Given the description of an element on the screen output the (x, y) to click on. 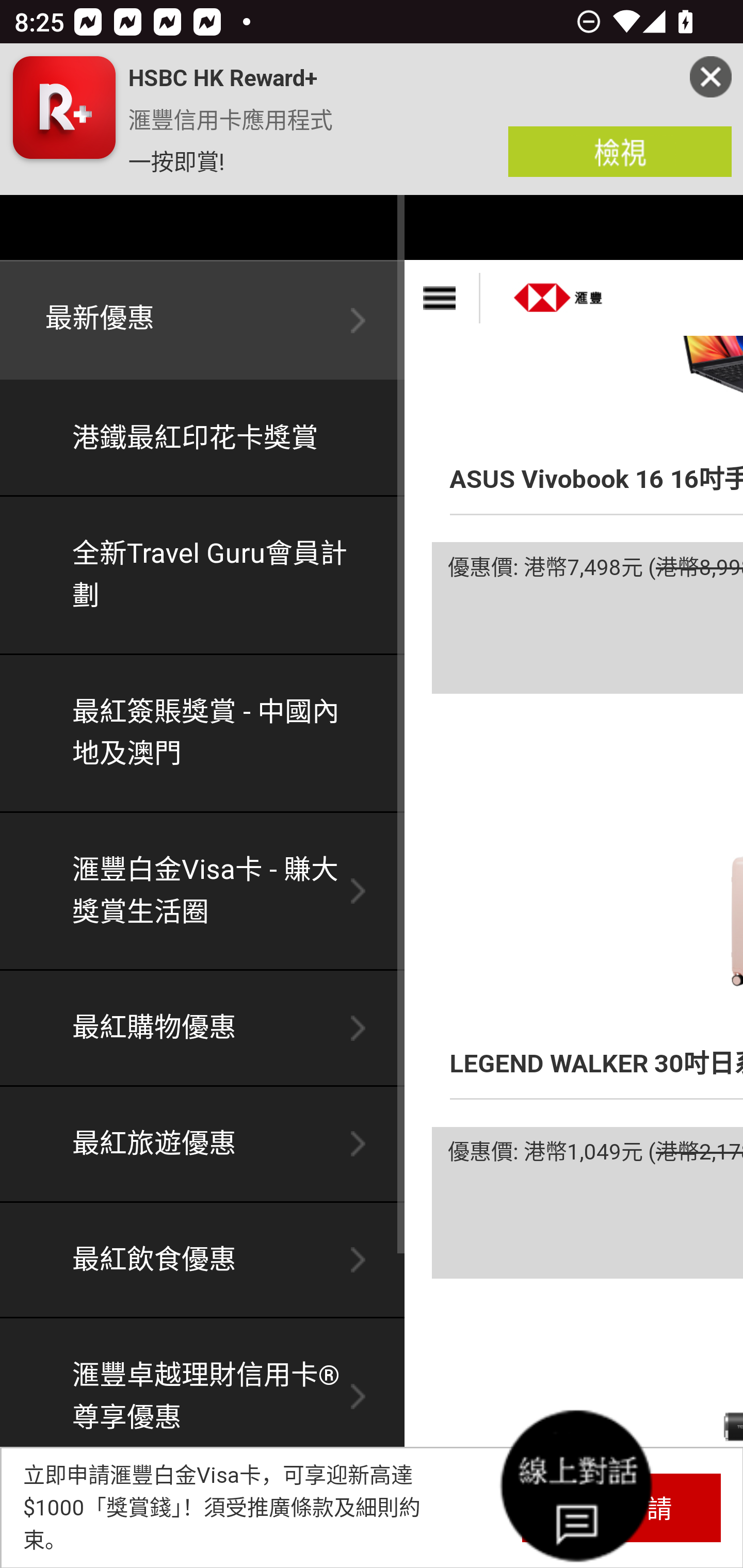
最新優惠 (203, 321)
HSBC (558, 291)
目錄 (442, 298)
港鐵最紅印花卡獎賞 港鐵最紅印花卡獎賞 港鐵最紅印花卡獎賞 (203, 439)
最紅簽賬獎賞 - 中國內地及澳門 最紅簽賬獎賞 - 中國內地及澳門 最紅簽賬獎賞 - 中國內地及澳門 (203, 733)
最紅購物優惠 最紅購物優惠 最紅購物優惠 (203, 1028)
最紅旅遊優惠 最紅旅遊優惠 最紅旅遊優惠 (203, 1144)
最紅飲食優惠 最紅飲食優惠 最紅飲食優惠 (203, 1260)
滙豐卓越理財信用卡®尊享優惠 滙豐卓越理財信用卡®尊享優惠 滙豐卓越理財信用卡®尊享優惠 (203, 1397)
立即申請 (621, 1507)
